Given the description of an element on the screen output the (x, y) to click on. 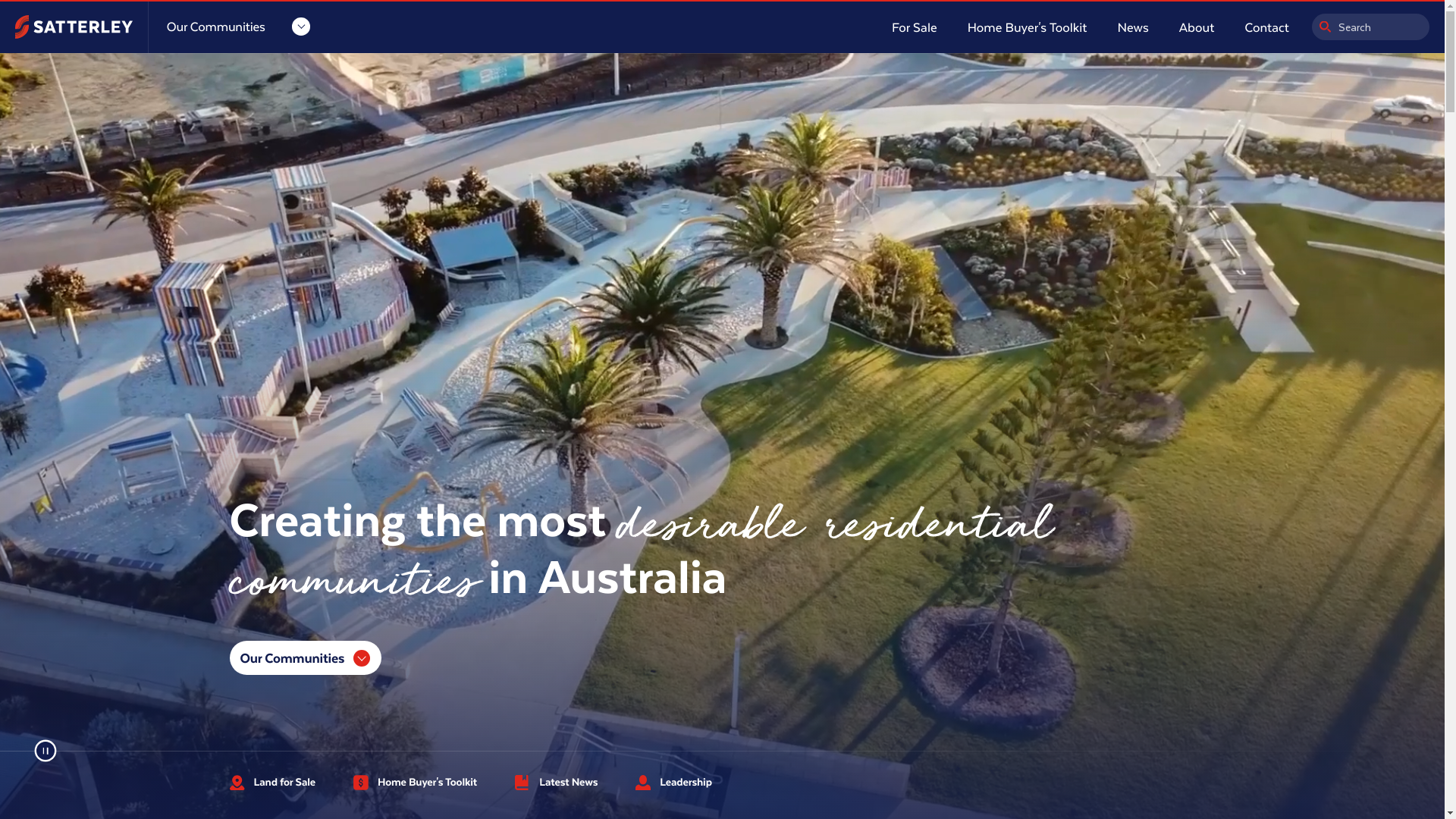
Toggle play / pause Element type: text (51, 756)
Communities Element type: text (238, 26)
Home Buyer's Toolkit Element type: text (1027, 26)
Submit Element type: hover (1324, 26)
Contact Element type: text (1266, 26)
Satterley Element type: text (74, 26)
Land for Sale Element type: text (272, 782)
For Sale Element type: text (914, 26)
News Element type: text (1133, 26)
Leadership Element type: text (673, 782)
Latest News Element type: text (555, 782)
Our Communities Element type: text (305, 657)
About Element type: text (1197, 26)
Skip to Content Element type: text (6, 6)
Home Buyer's Toolkit Element type: text (414, 782)
